Given the description of an element on the screen output the (x, y) to click on. 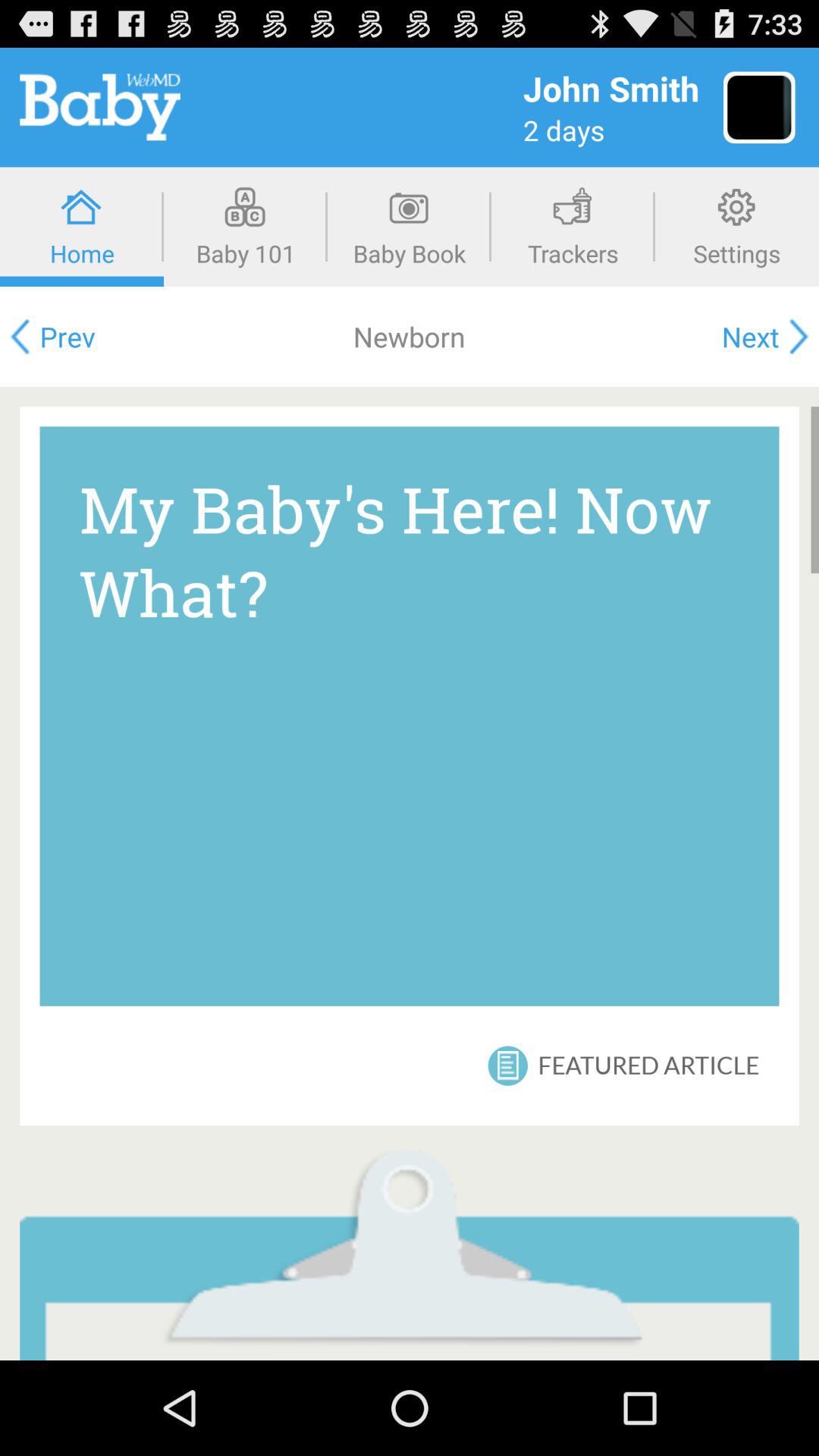
press the item next to the featured article (507, 1065)
